Given the description of an element on the screen output the (x, y) to click on. 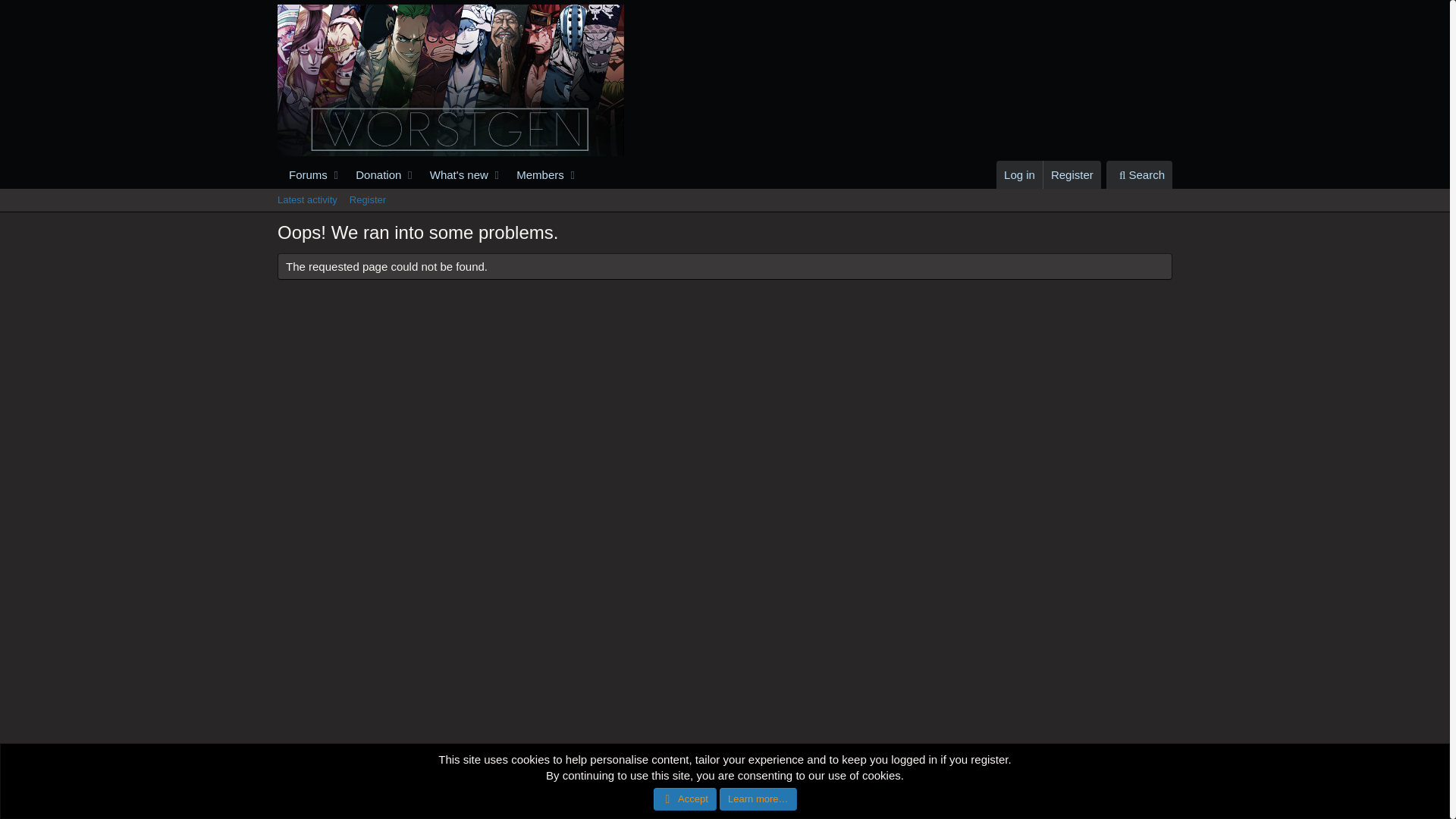
Forums (304, 174)
Register (1071, 174)
Search (723, 200)
RSS (1139, 174)
Contact us (1163, 803)
Style chooser (939, 803)
Help (314, 803)
Register (1137, 803)
